Given the description of an element on the screen output the (x, y) to click on. 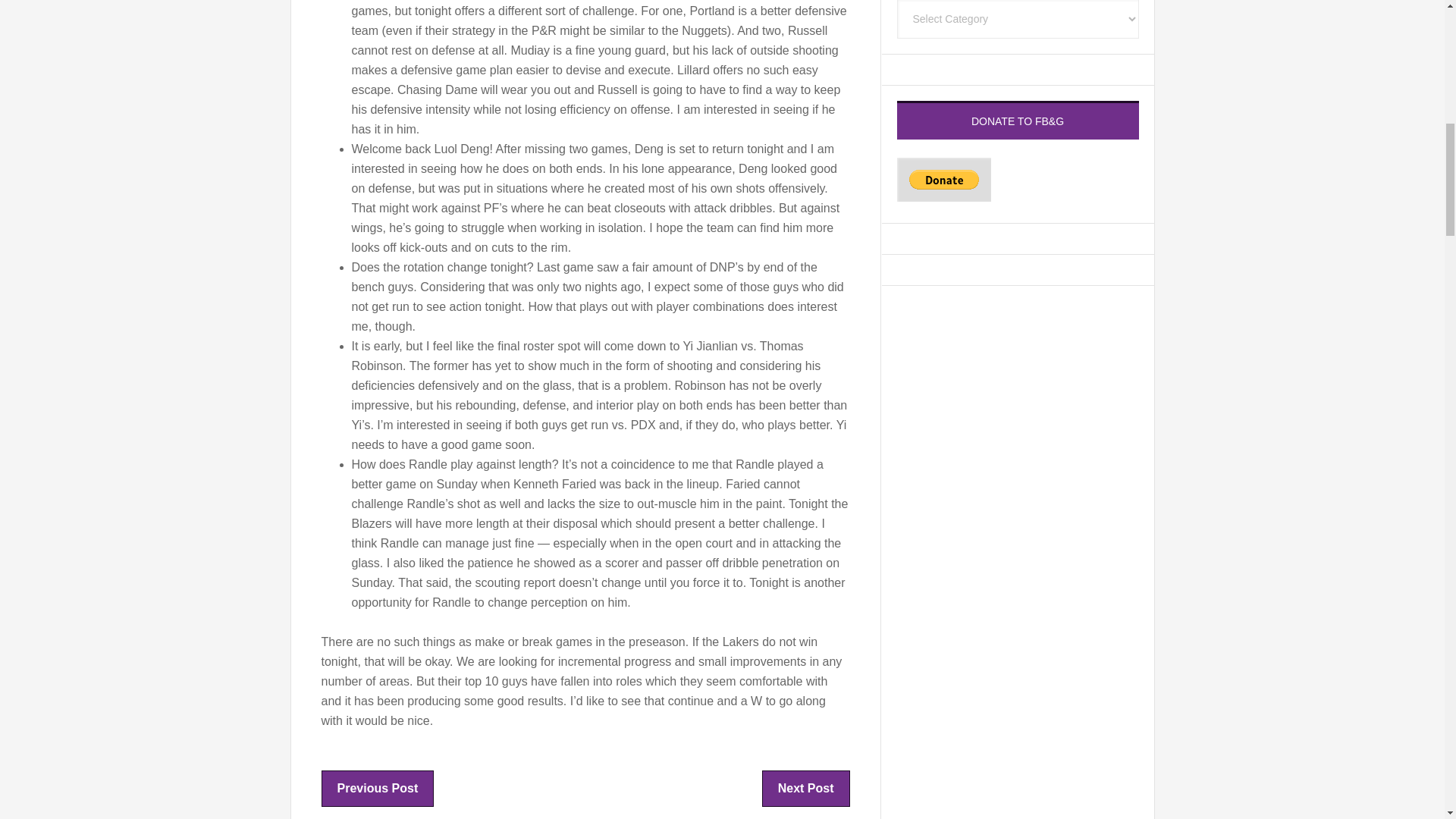
Next Post (805, 787)
Previous Post (376, 787)
